Given the description of an element on the screen output the (x, y) to click on. 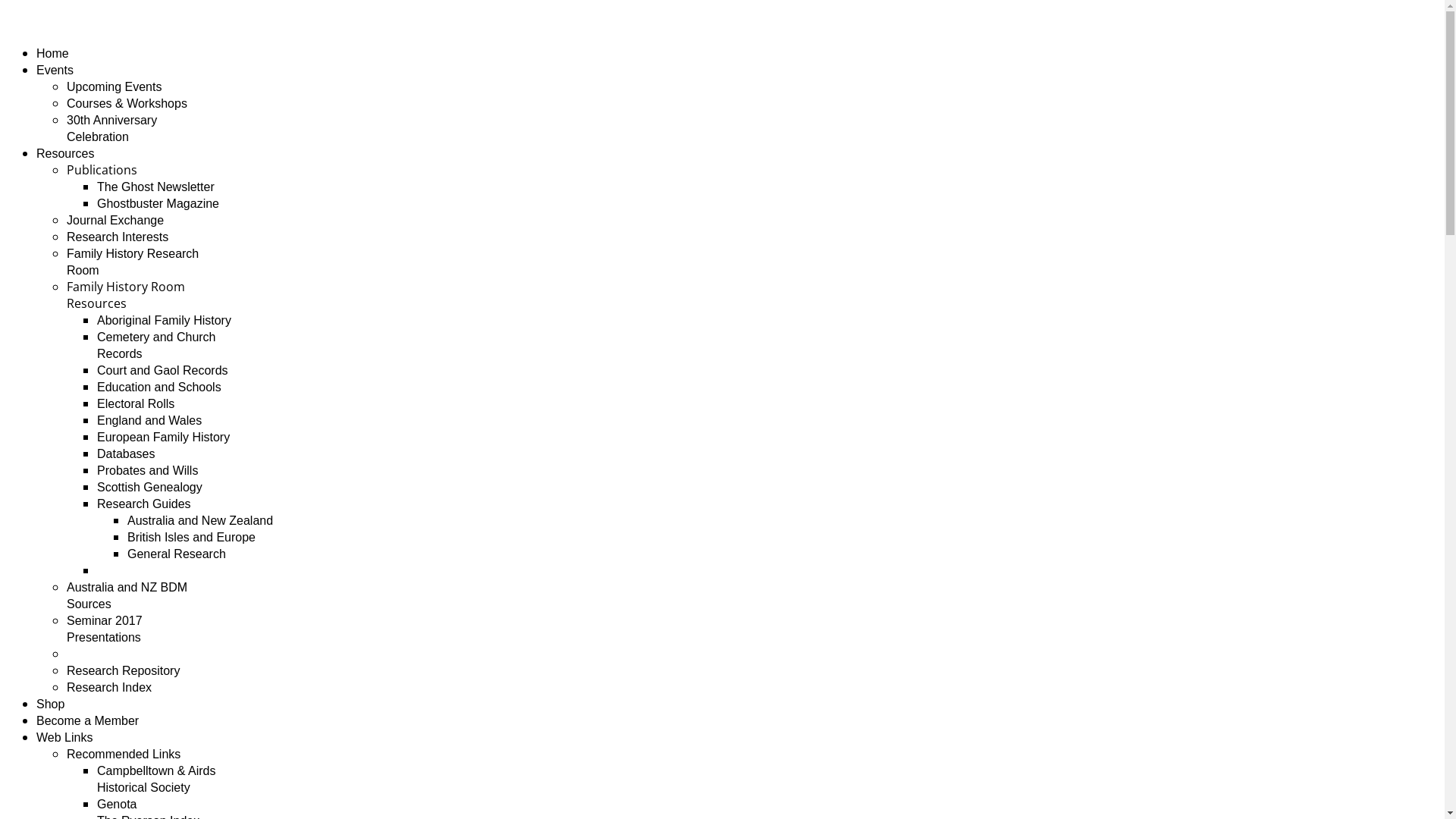
Campbelltown & Airds Historical Society Element type: text (156, 778)
Research Interests Element type: text (117, 236)
Genota Element type: text (116, 803)
Australia and NZ BDM Sources Element type: text (126, 595)
Australia and New Zealand Element type: text (200, 520)
The Ghost Newsletter Element type: text (155, 186)
Research Repository Element type: text (122, 670)
European Family History Element type: text (163, 436)
Research Guides Element type: text (144, 503)
Journal Exchange Element type: text (114, 219)
30th Anniversary Celebration Element type: text (111, 128)
Research Index Element type: text (108, 686)
Probates and Wills Element type: text (147, 470)
Family History Research Room Element type: text (132, 261)
Ghostbuster Magazine Element type: text (158, 203)
England and Wales Element type: text (149, 420)
Electoral Rolls Element type: text (135, 403)
General Research Element type: text (176, 553)
Education and Schools Element type: text (159, 386)
Recommended Links Element type: text (123, 753)
Home Element type: text (52, 53)
Court and Gaol Records Element type: text (162, 370)
Courses & Workshops Element type: text (126, 103)
Databases Element type: text (126, 453)
Seminar 2017 Presentations Element type: text (104, 628)
Cemetery and Church Records Element type: text (156, 345)
Upcoming Events Element type: text (113, 86)
Shop Element type: text (50, 703)
British Isles and Europe Element type: text (191, 536)
Scottish Genealogy Element type: text (149, 486)
Become a Member Element type: text (87, 720)
Aboriginal Family History Element type: text (164, 319)
